Given the description of an element on the screen output the (x, y) to click on. 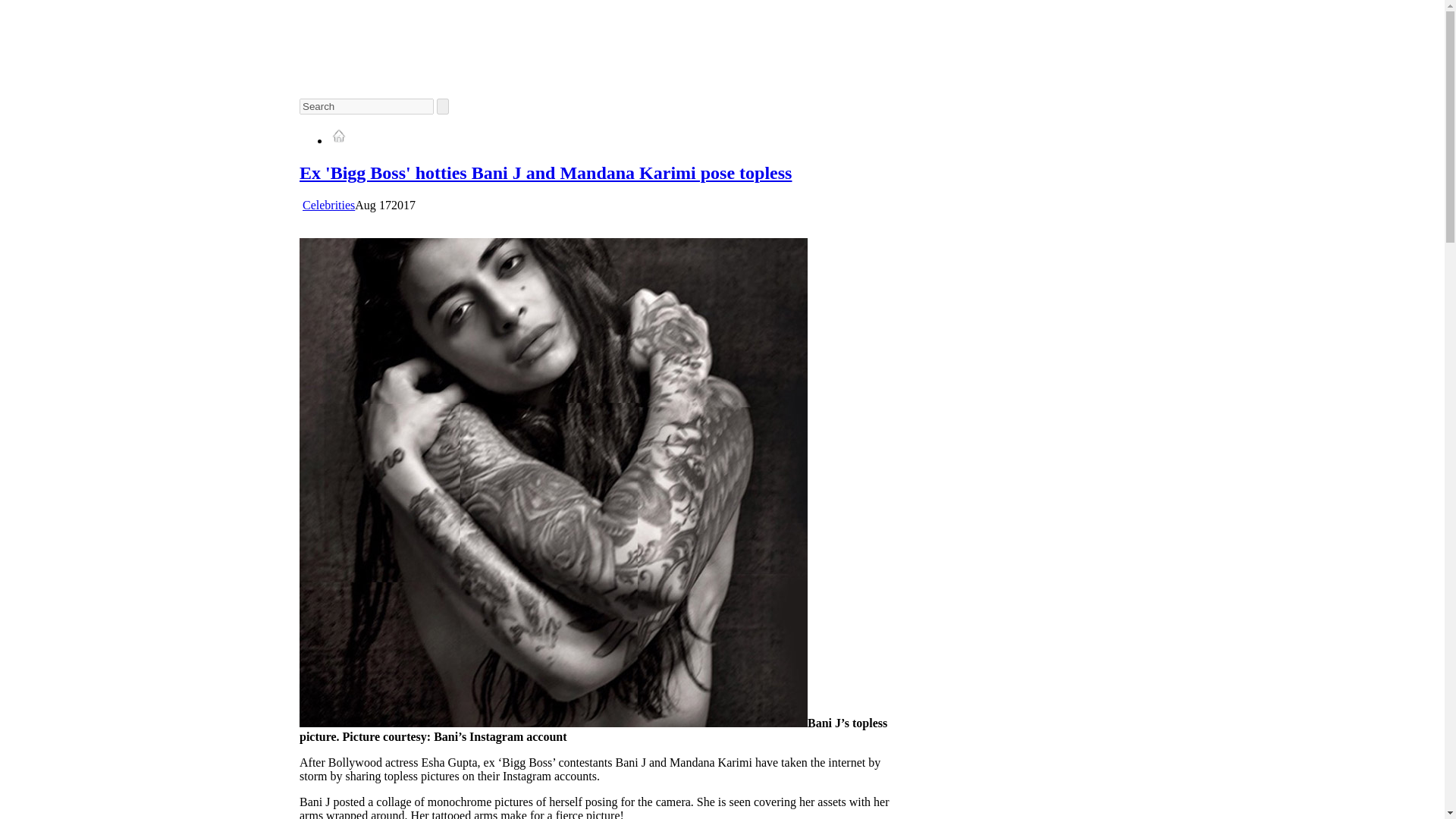
Search (366, 106)
Celebrities (328, 205)
Search (366, 106)
